Given the description of an element on the screen output the (x, y) to click on. 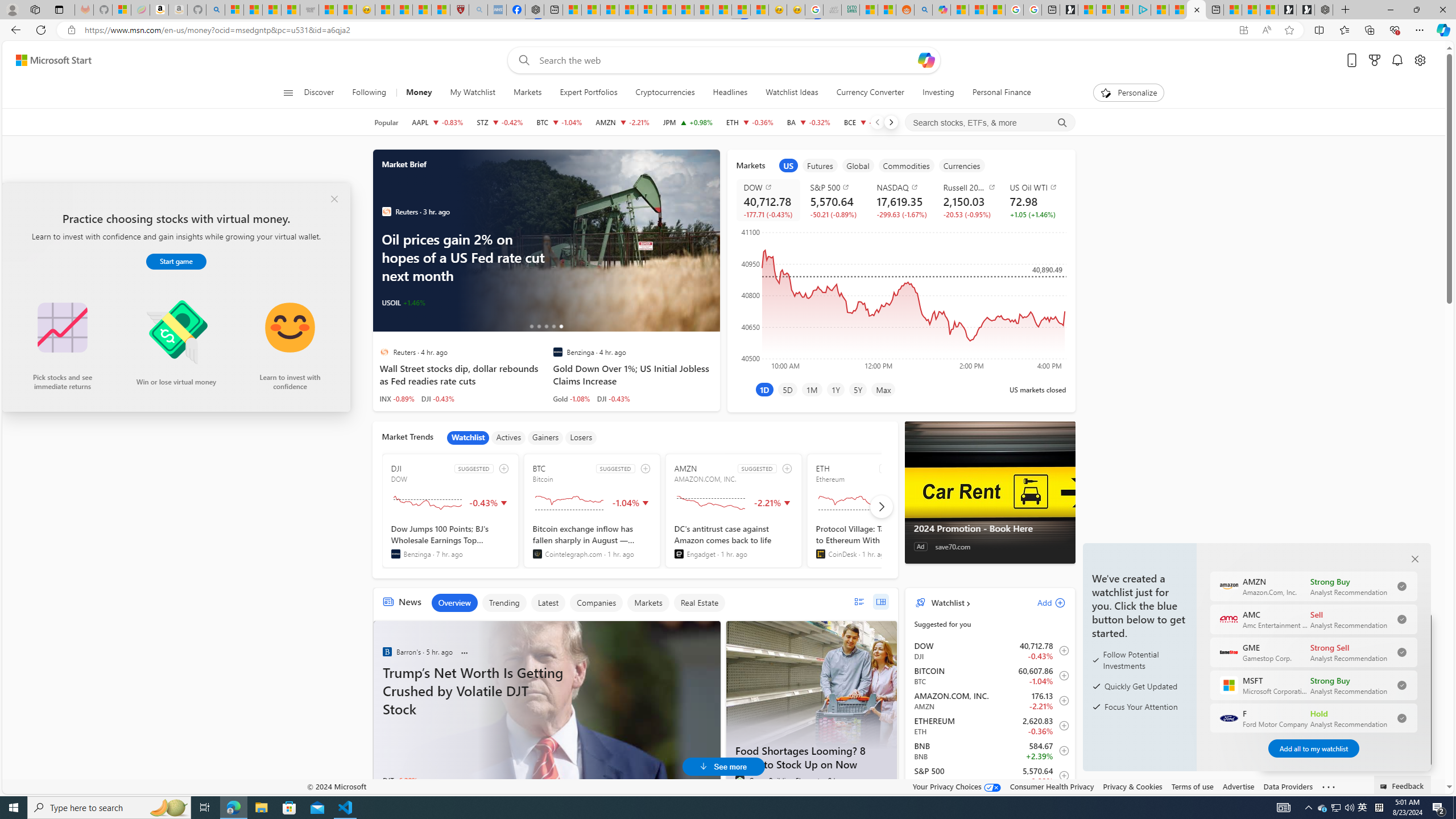
Consumer Health Privacy (1051, 786)
2024 Promotion - Book Here (989, 492)
Open settings (1420, 60)
Science - MSN (421, 9)
show card (22, 204)
ETH Ethereum decrease 2,620.83 -9.43 -0.36% (749, 122)
US Oil WTI (1035, 187)
Actives (508, 437)
Consumer Health Privacy (1051, 785)
add to watchlist (785, 468)
New tab (1214, 9)
MarketWatch (386, 211)
Watchlist Ideas (791, 92)
